Given the description of an element on the screen output the (x, y) to click on. 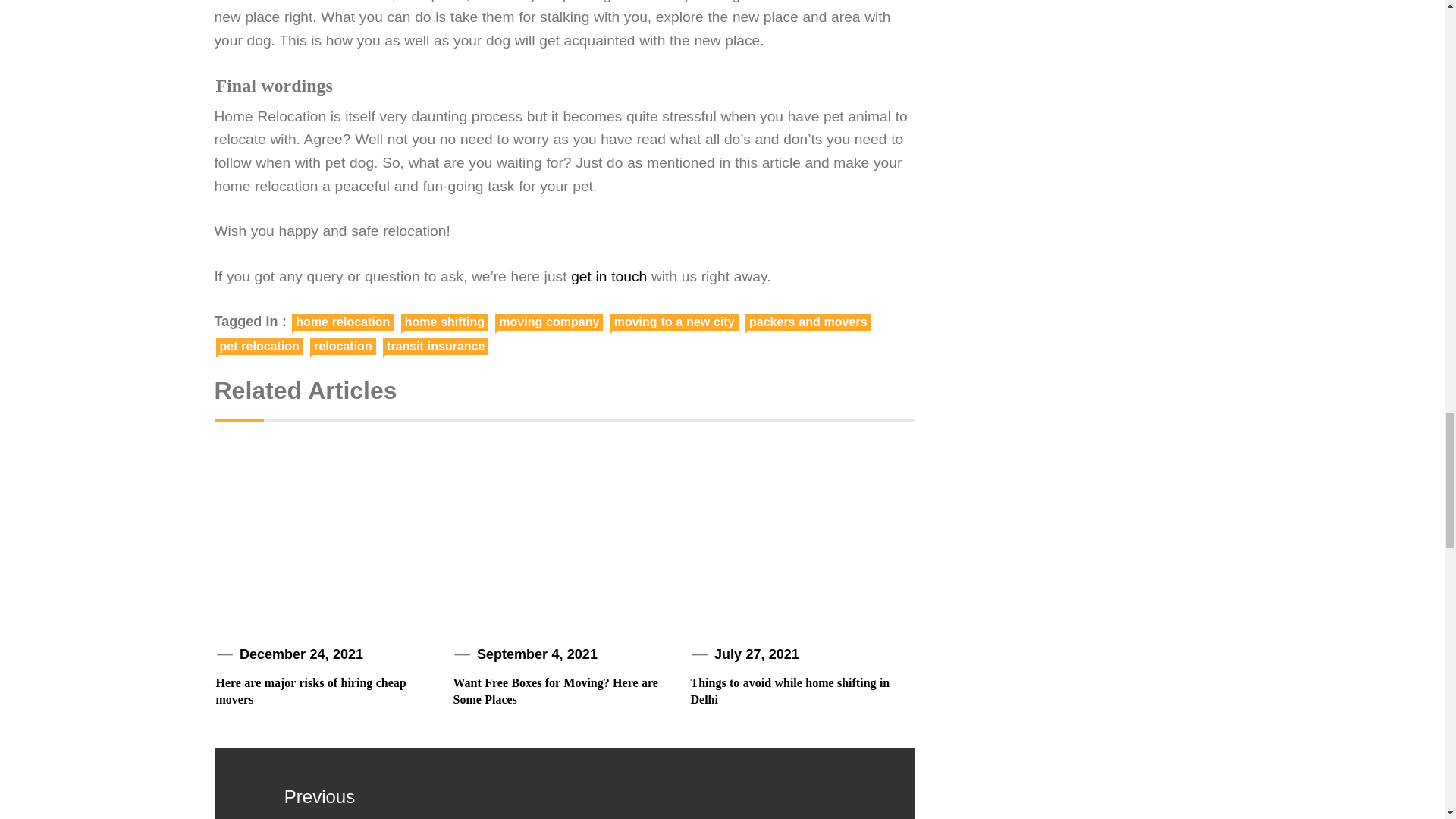
Things to avoid while home shifting in Delhi (789, 690)
pet relocation (258, 346)
moving company (548, 321)
Want Free Boxes for Moving? Here are Some Places (555, 690)
moving to a new city (674, 321)
get in touch (608, 276)
relocation (342, 346)
July 27, 2021 (756, 654)
September 4, 2021 (536, 654)
home shifting (444, 321)
